Given the description of an element on the screen output the (x, y) to click on. 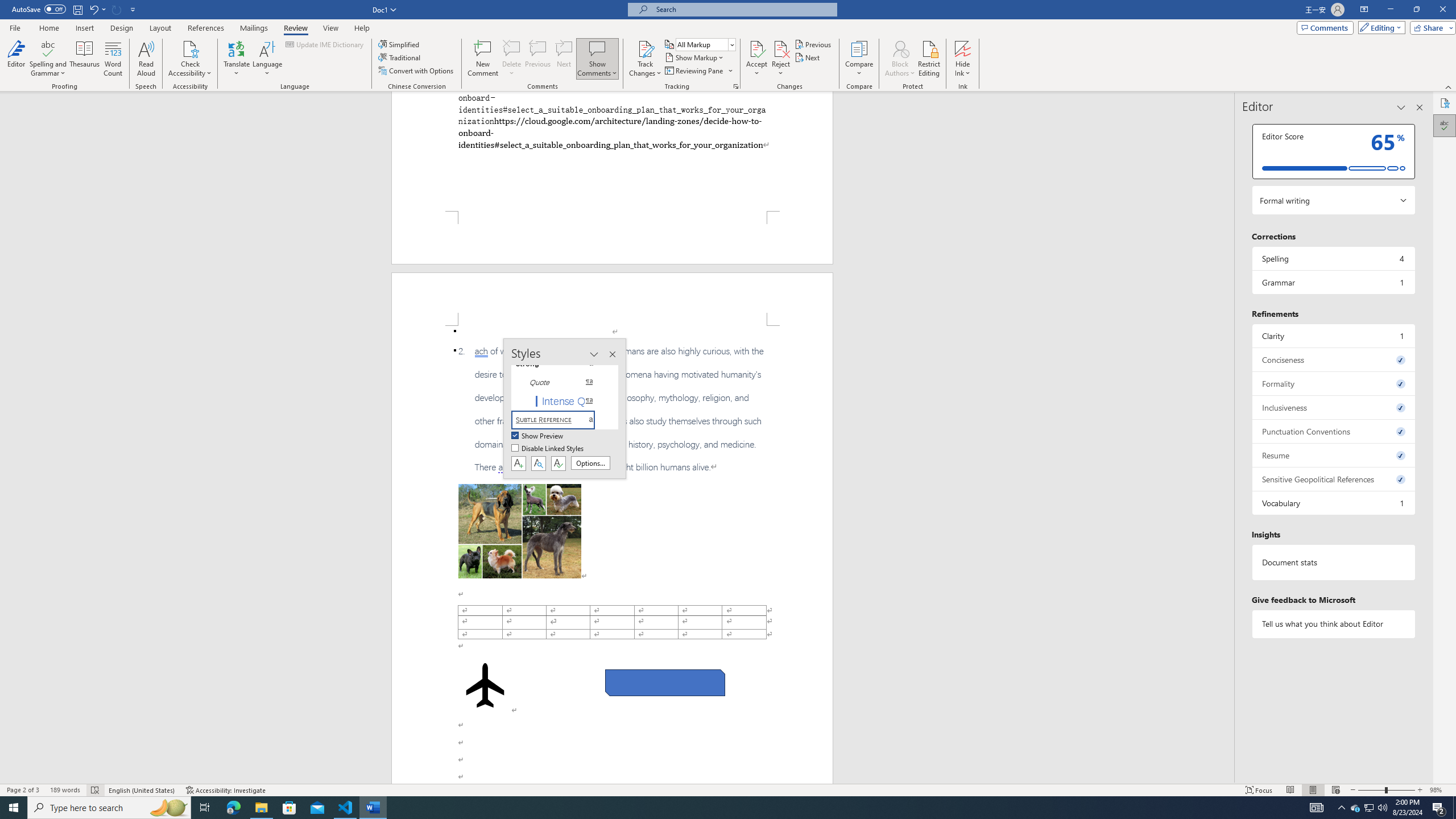
Thesaurus... (84, 58)
Reject (780, 58)
Convert with Options... (417, 69)
Class: NetUIButton (558, 463)
Accessibility (1444, 102)
